Given the description of an element on the screen output the (x, y) to click on. 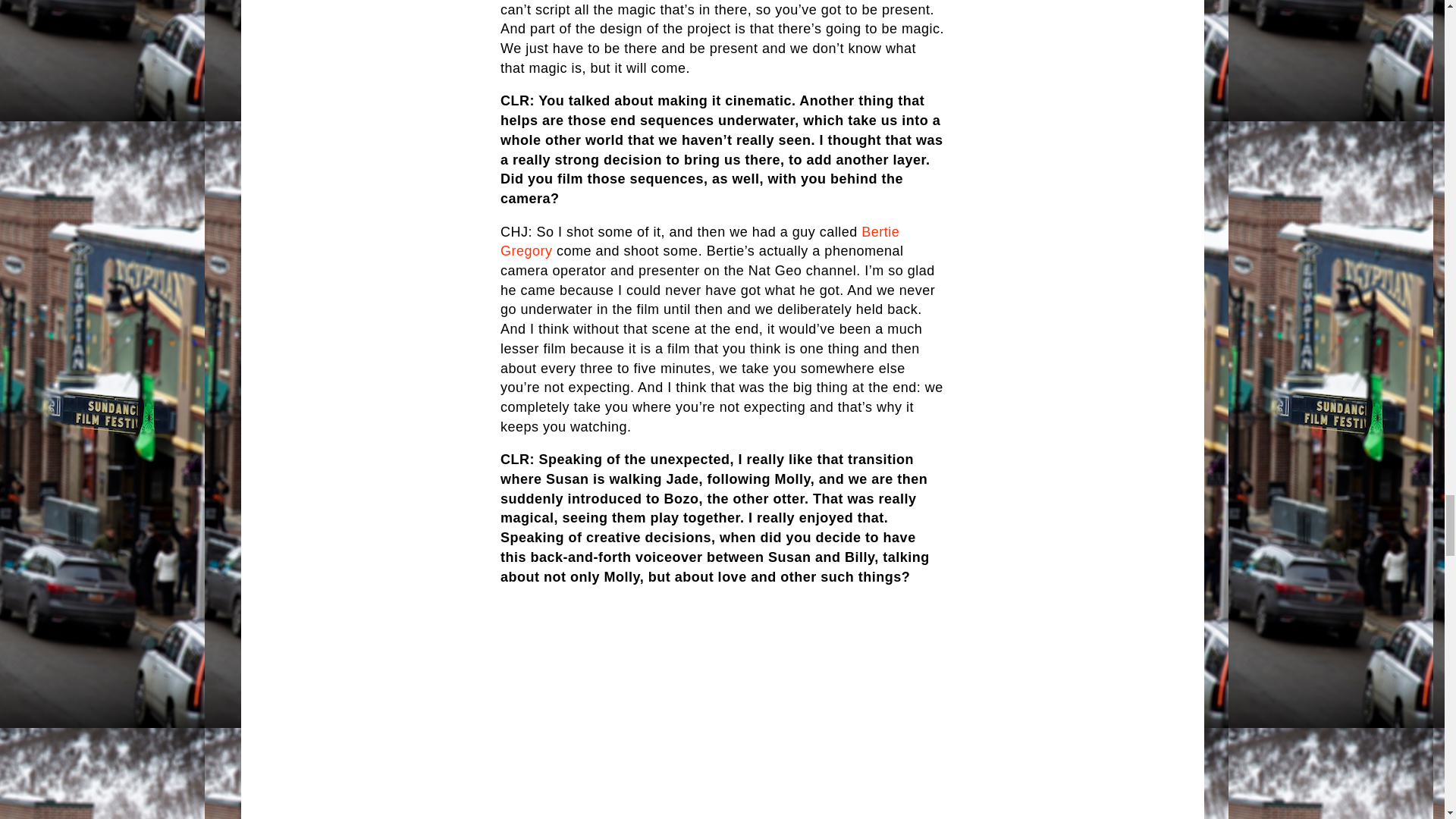
Bertie Gregory (699, 241)
